Given the description of an element on the screen output the (x, y) to click on. 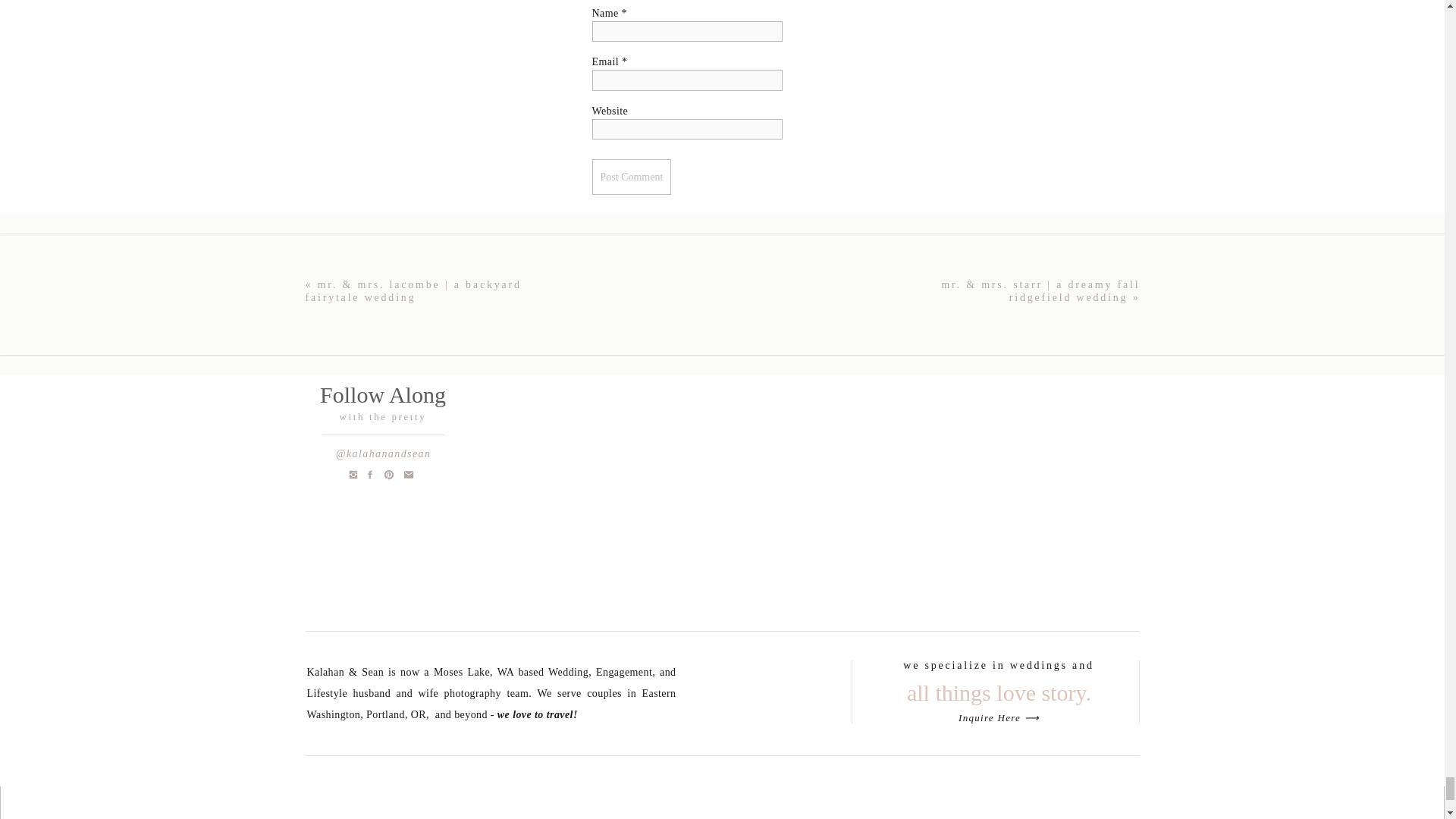
Post Comment (631, 176)
